Given the description of an element on the screen output the (x, y) to click on. 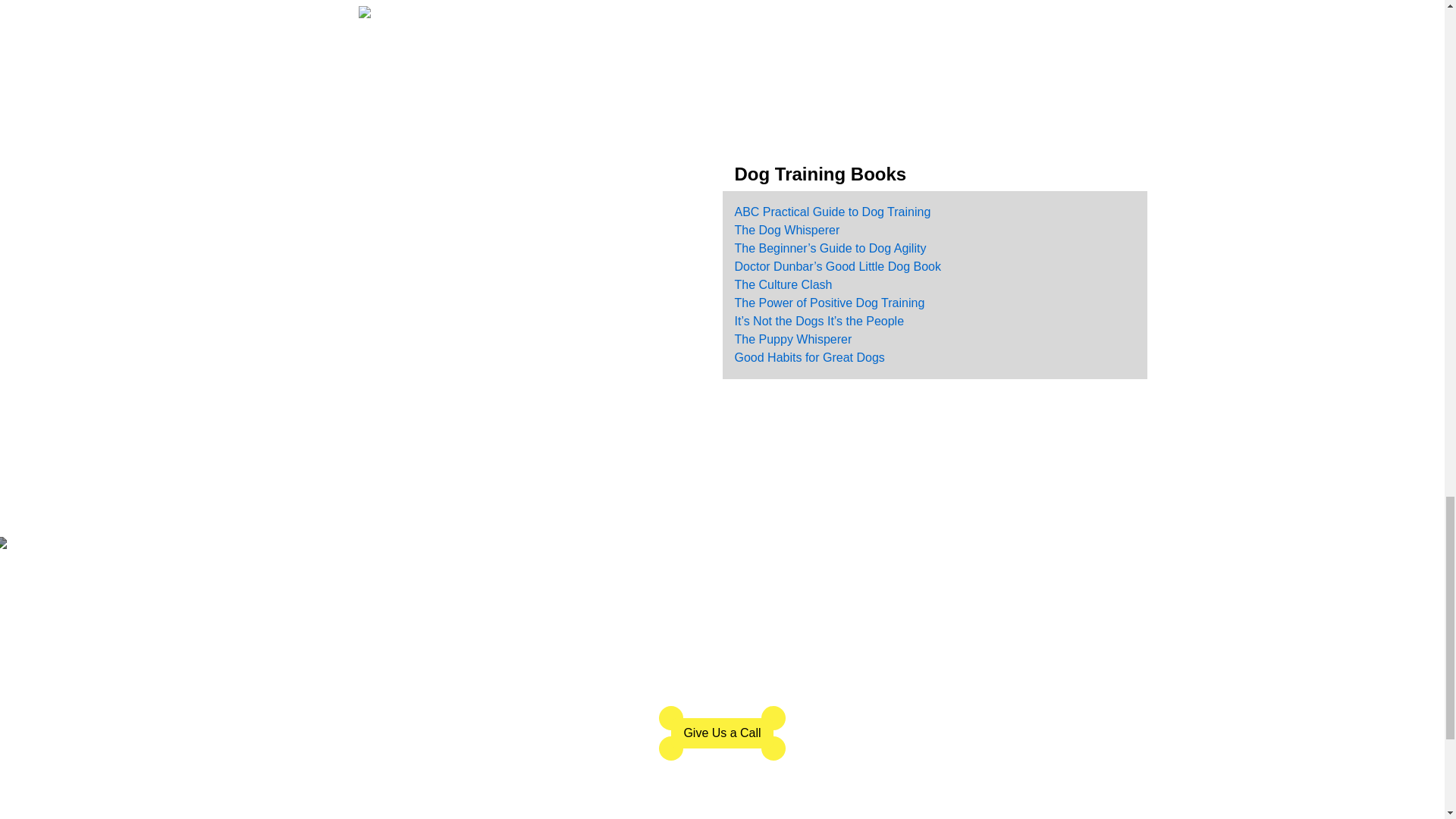
ABC Practical Guide to Dog Training (831, 211)
The Power of Positive Dog Training (828, 302)
The Culture Clash (782, 284)
The Puppy Whisperer (792, 338)
The Dog Whisperer (786, 229)
Good Habits for Great Dogs (808, 357)
Give Us a Call (722, 733)
